Given the description of an element on the screen output the (x, y) to click on. 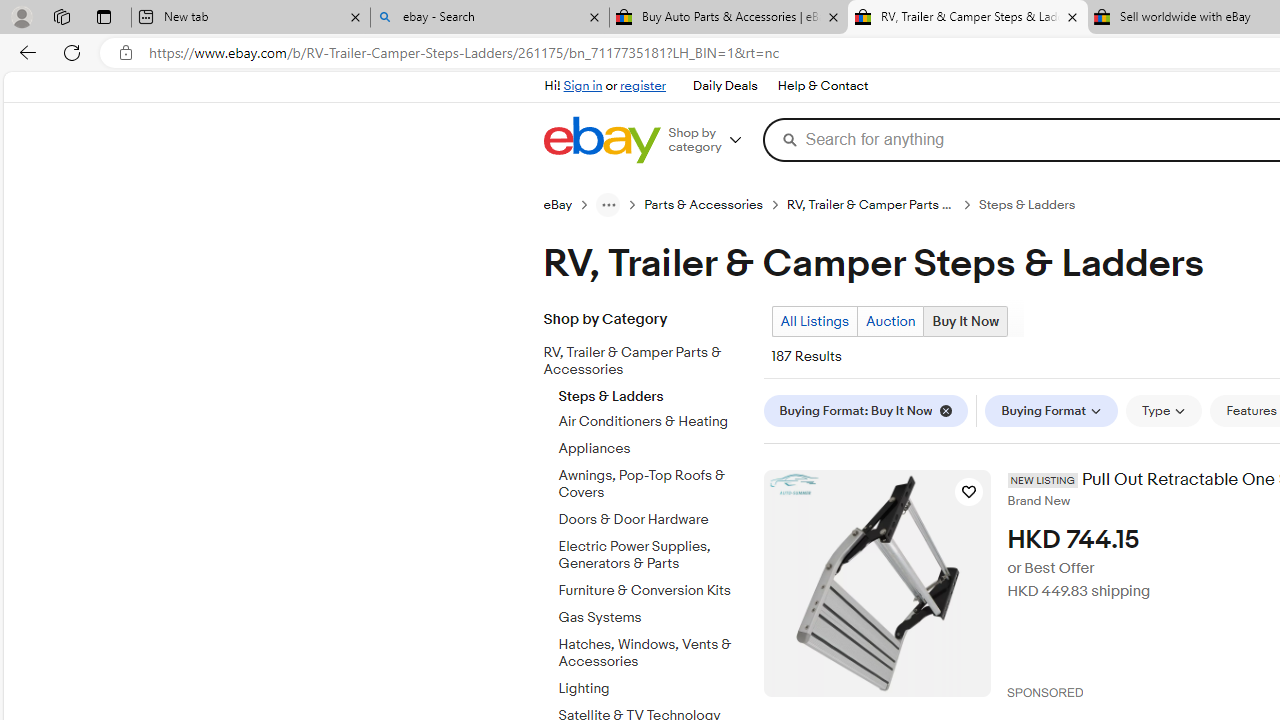
Daily Deals (724, 85)
Air Conditioners & Heating (653, 422)
Electric Power Supplies, Generators & Parts (653, 551)
Gas Systems (653, 614)
Parts & Accessories (715, 204)
Help & Contact (821, 85)
Type (1164, 410)
Buying Format: Buy It Now- Remove Filter (869, 410)
Buying Format (1051, 410)
Auction (890, 321)
eBay (569, 204)
All Listings (813, 321)
Furniture & Conversion Kits (653, 587)
